Given the description of an element on the screen output the (x, y) to click on. 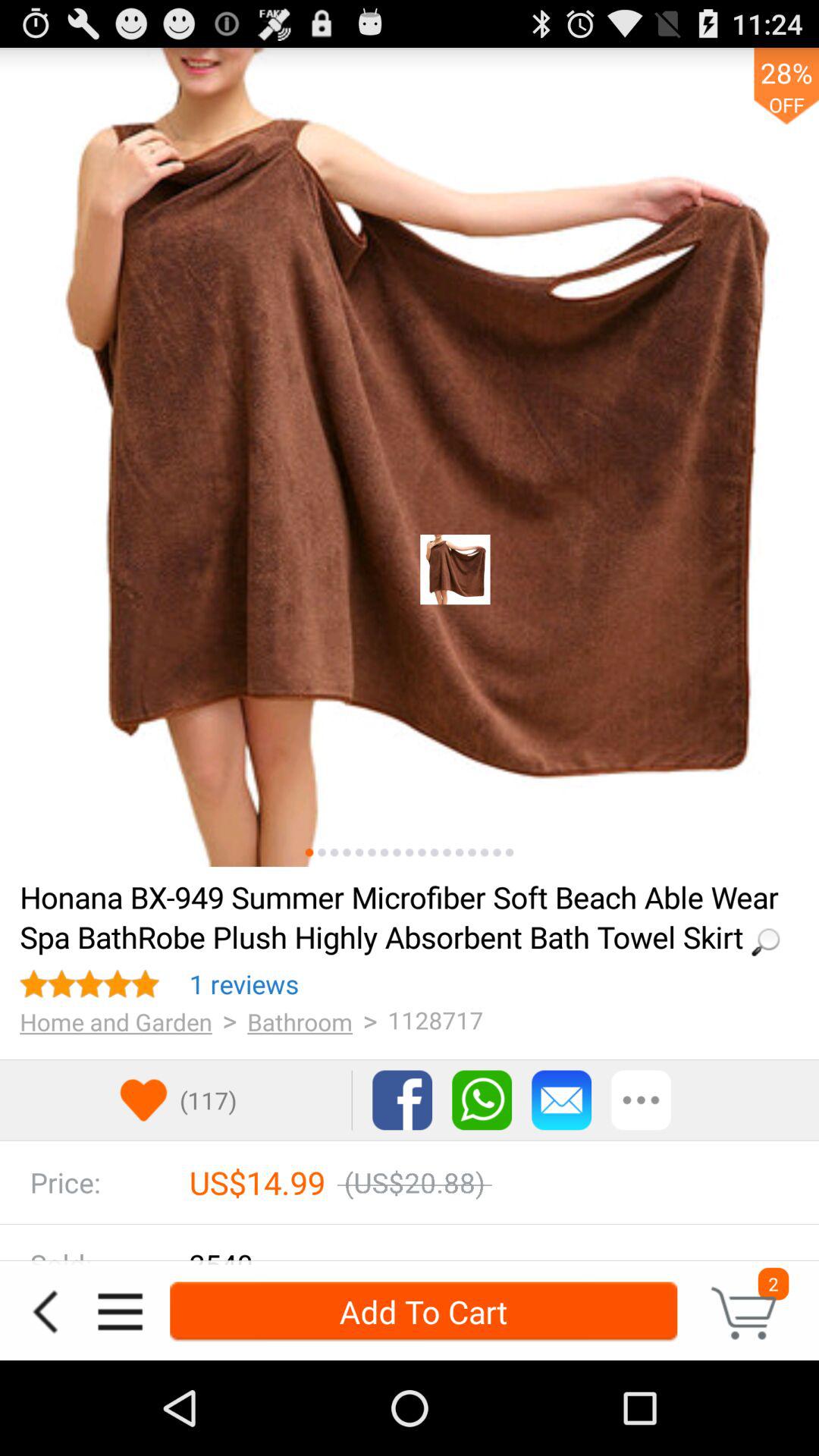
other options for communication or sharing (641, 1100)
